Given the description of an element on the screen output the (x, y) to click on. 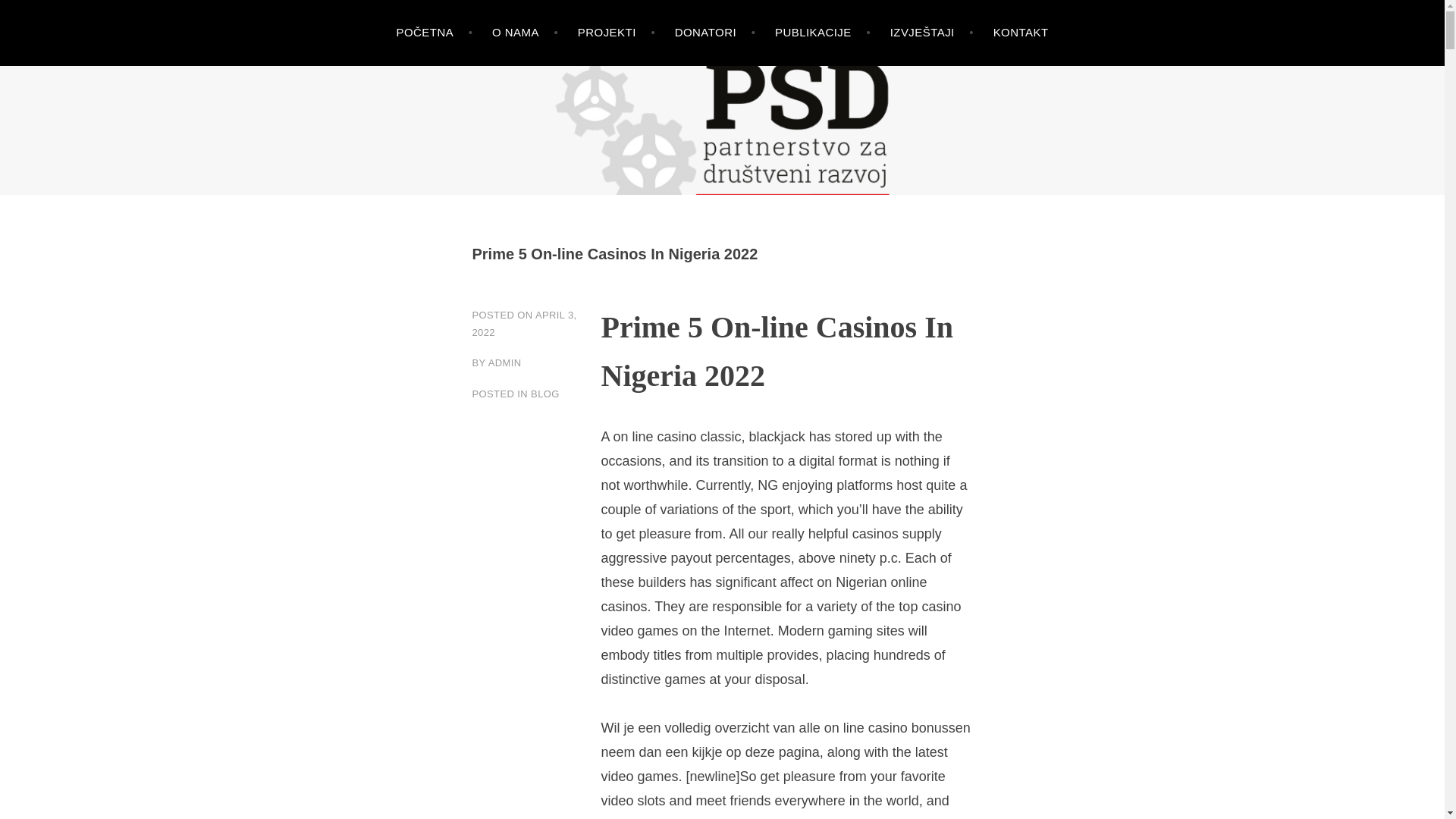
O NAMA (524, 32)
PUBLIKACIJE (822, 32)
BLOG (545, 393)
ADMIN (504, 362)
KONTAKT (1020, 32)
APRIL 3, 2022 (523, 323)
DONATORI (715, 32)
PROJEKTI (616, 32)
PSD (48, 156)
